Given the description of an element on the screen output the (x, y) to click on. 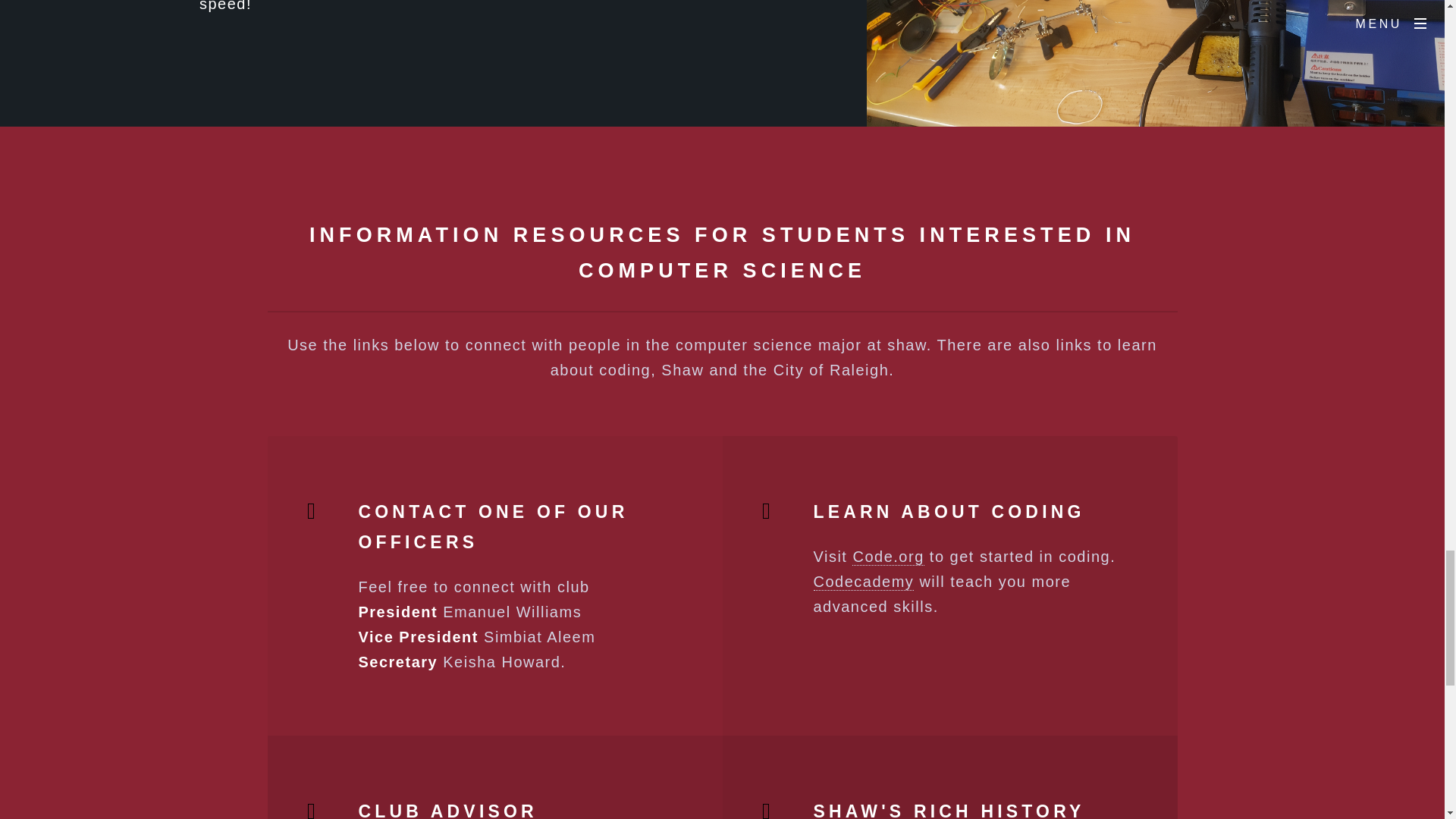
Code.org (887, 556)
Codecademy (863, 581)
